Given the description of an element on the screen output the (x, y) to click on. 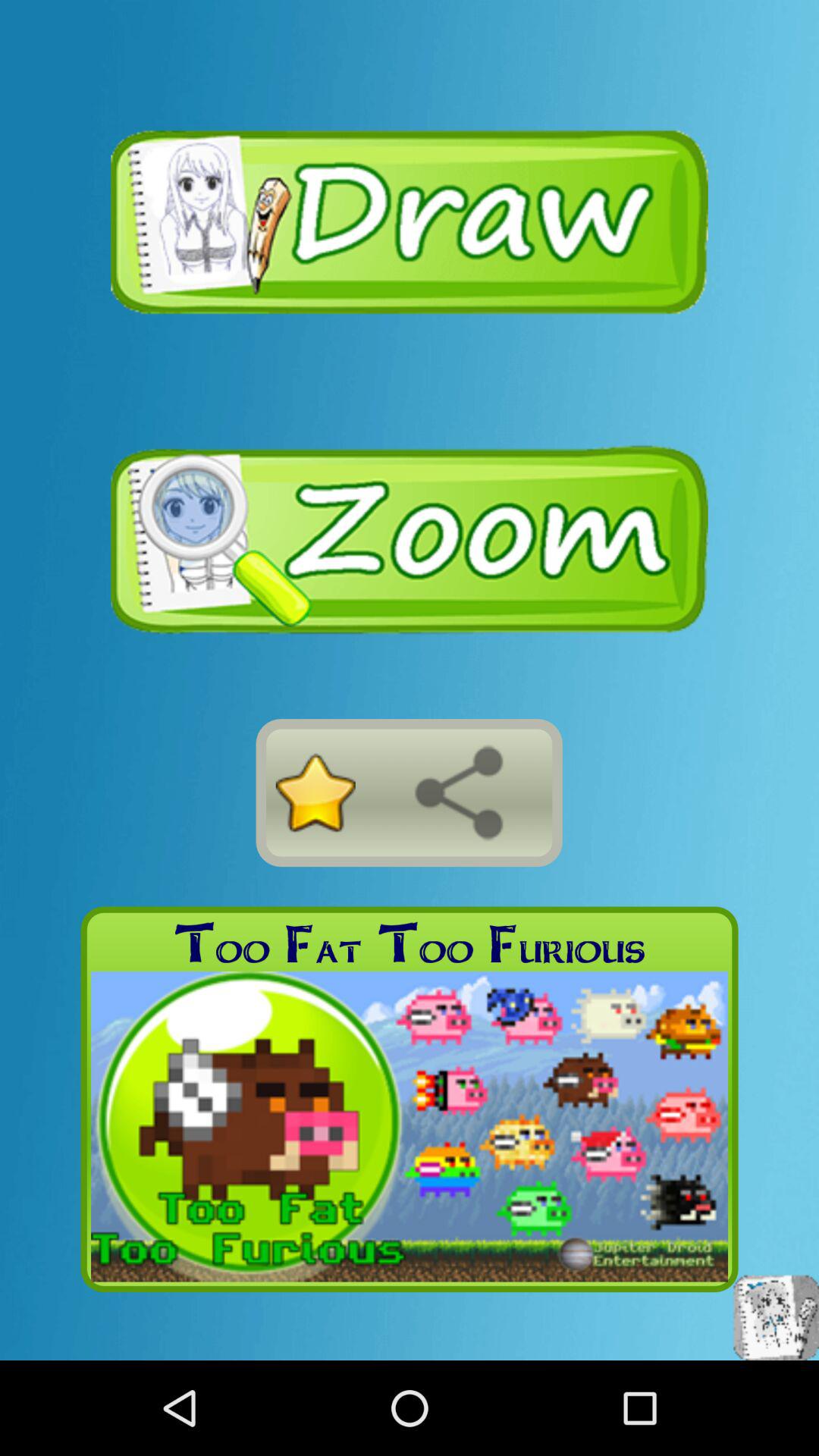
jump until too fat too (409, 943)
